Given the description of an element on the screen output the (x, y) to click on. 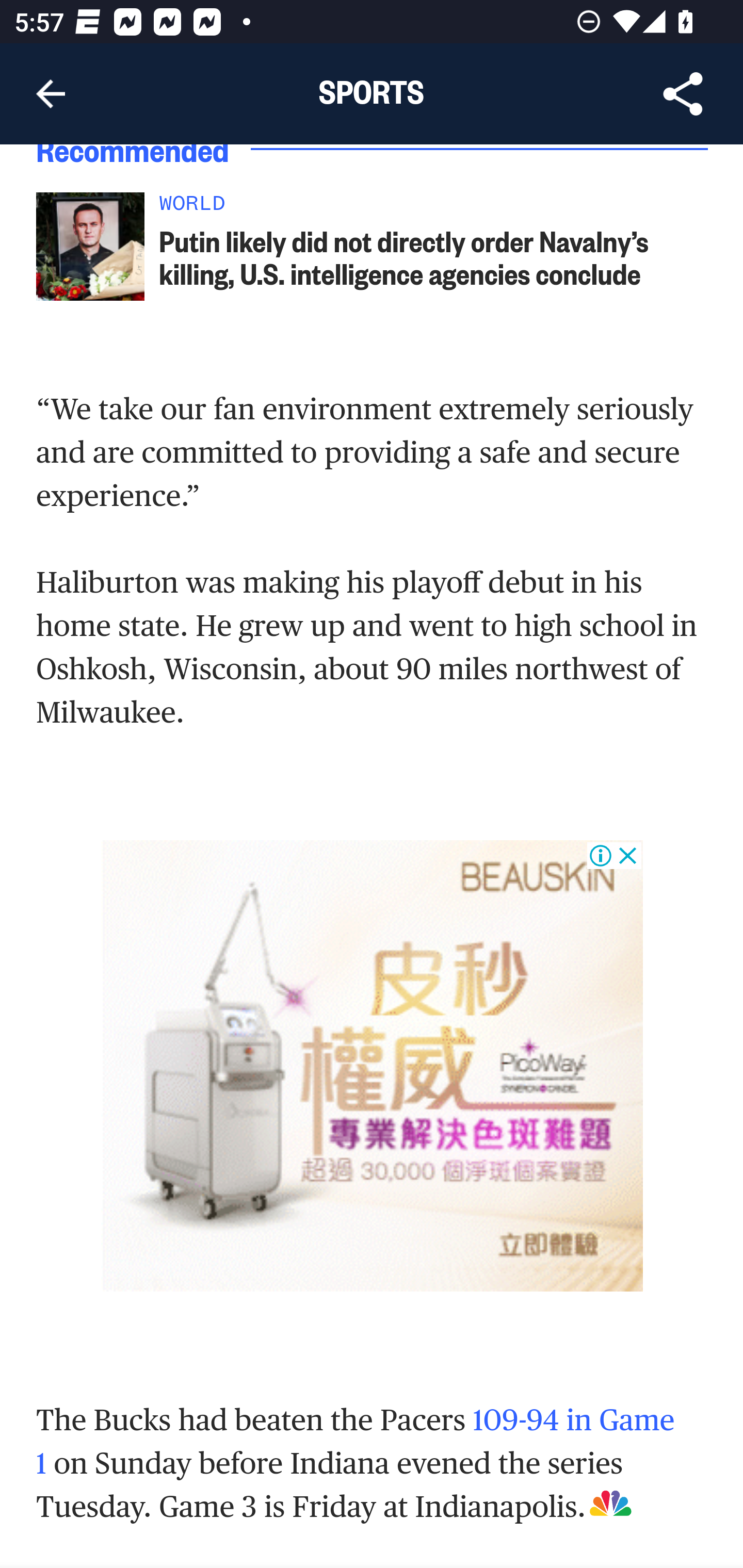
Navigate up (50, 93)
Share Article, button (683, 94)
WORLD (434, 209)
109-94 in Game 1 (355, 1441)
